Given the description of an element on the screen output the (x, y) to click on. 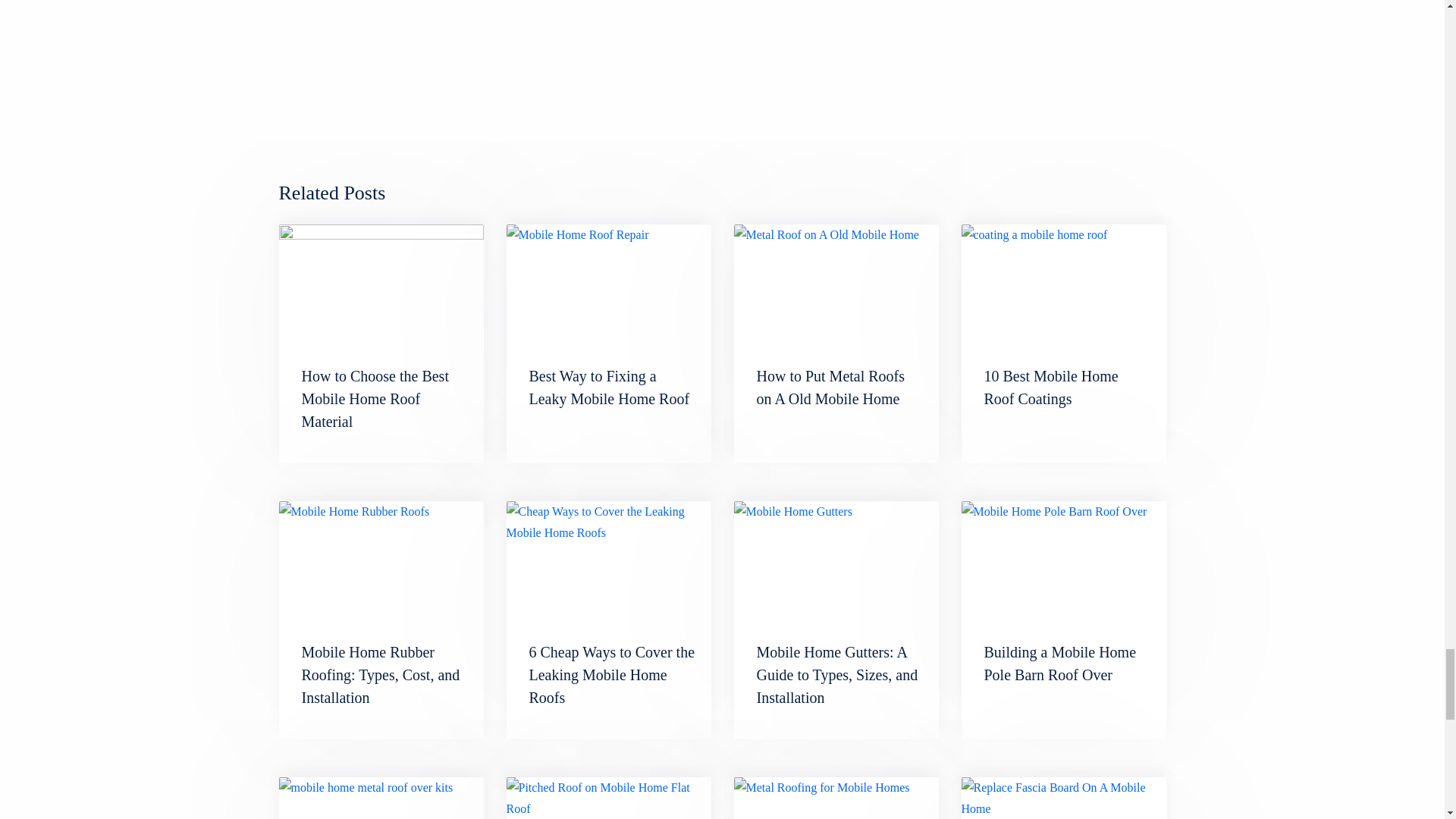
Best Way to Fixing a Leaky Mobile Home Roof (608, 282)
10 Best Mobile Home Roof Coatings (1051, 387)
How to Choose the Best Mobile Home Roof Material (374, 398)
10 Best Mobile Home Roof Coatings (1063, 282)
Best Way to Fixing a Leaky Mobile Home Roof (609, 387)
Best Way to Fixing a Leaky Mobile Home Roof (609, 387)
How to Choose the Best Mobile Home Roof Material (381, 282)
6 Cheap Ways to Cover the Leaking Mobile Home Roofs (612, 674)
How to Put Metal Roofs on A Old Mobile Home (836, 282)
10 Best Mobile Home Roof Coatings (1051, 387)
Mobile Home Rubber Roofing: Types, Cost, and Installation (380, 674)
Mobile Home Rubber Roofing: Types, Cost, and Installation (381, 559)
Mobile Home Rubber Roofing: Types, Cost, and Installation (380, 674)
How to Choose the Best Mobile Home Roof Material (374, 398)
